Given the description of an element on the screen output the (x, y) to click on. 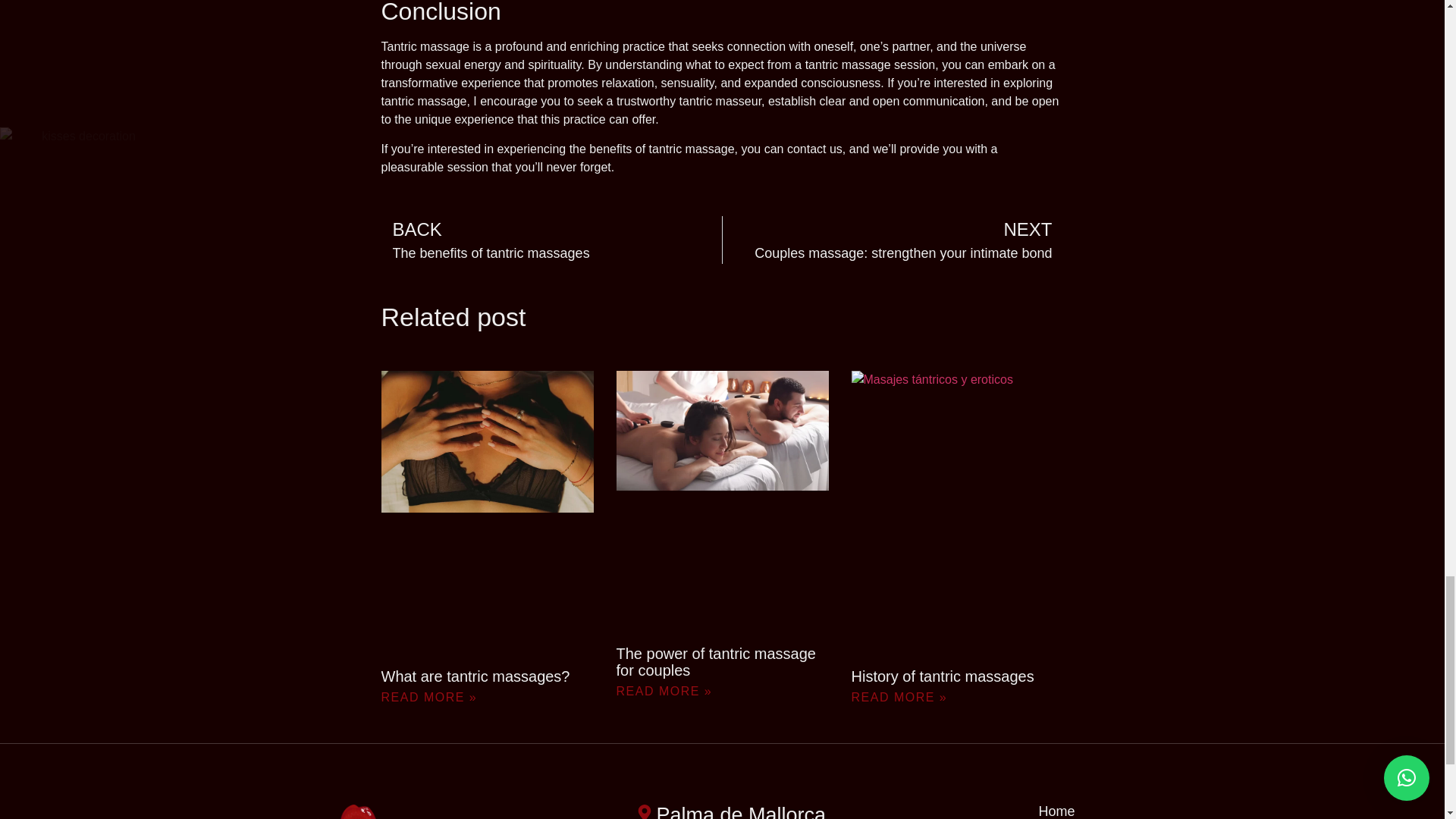
The power of tantric massage for couples (893, 239)
What are tantric massages? (551, 239)
